Given the description of an element on the screen output the (x, y) to click on. 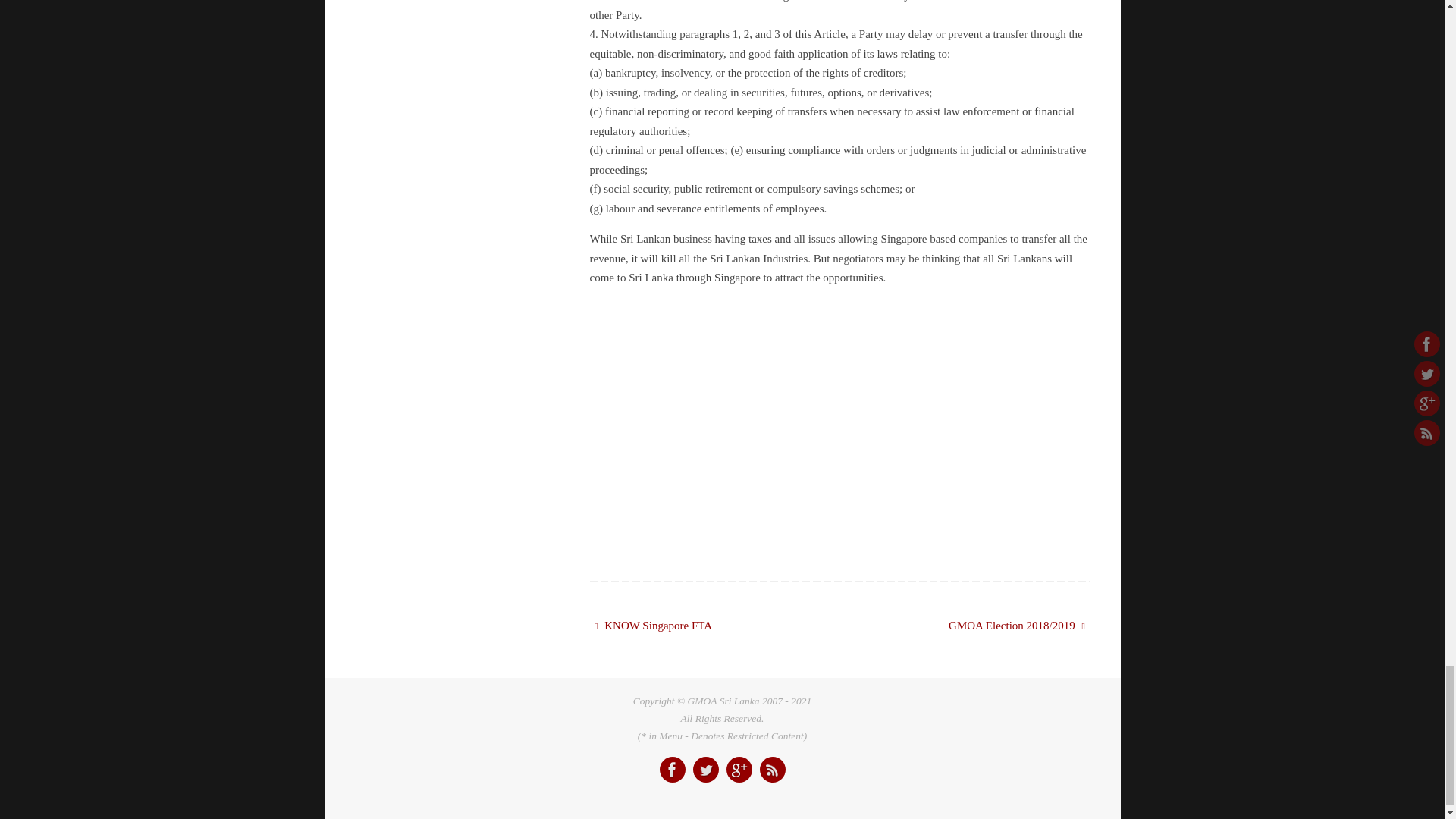
GMOA on Facebook (672, 769)
Subscribe to GMOA Feed (773, 769)
GMOA on Google Plus (739, 769)
Follow GMOA Media Unit on Twitter (706, 769)
